Given the description of an element on the screen output the (x, y) to click on. 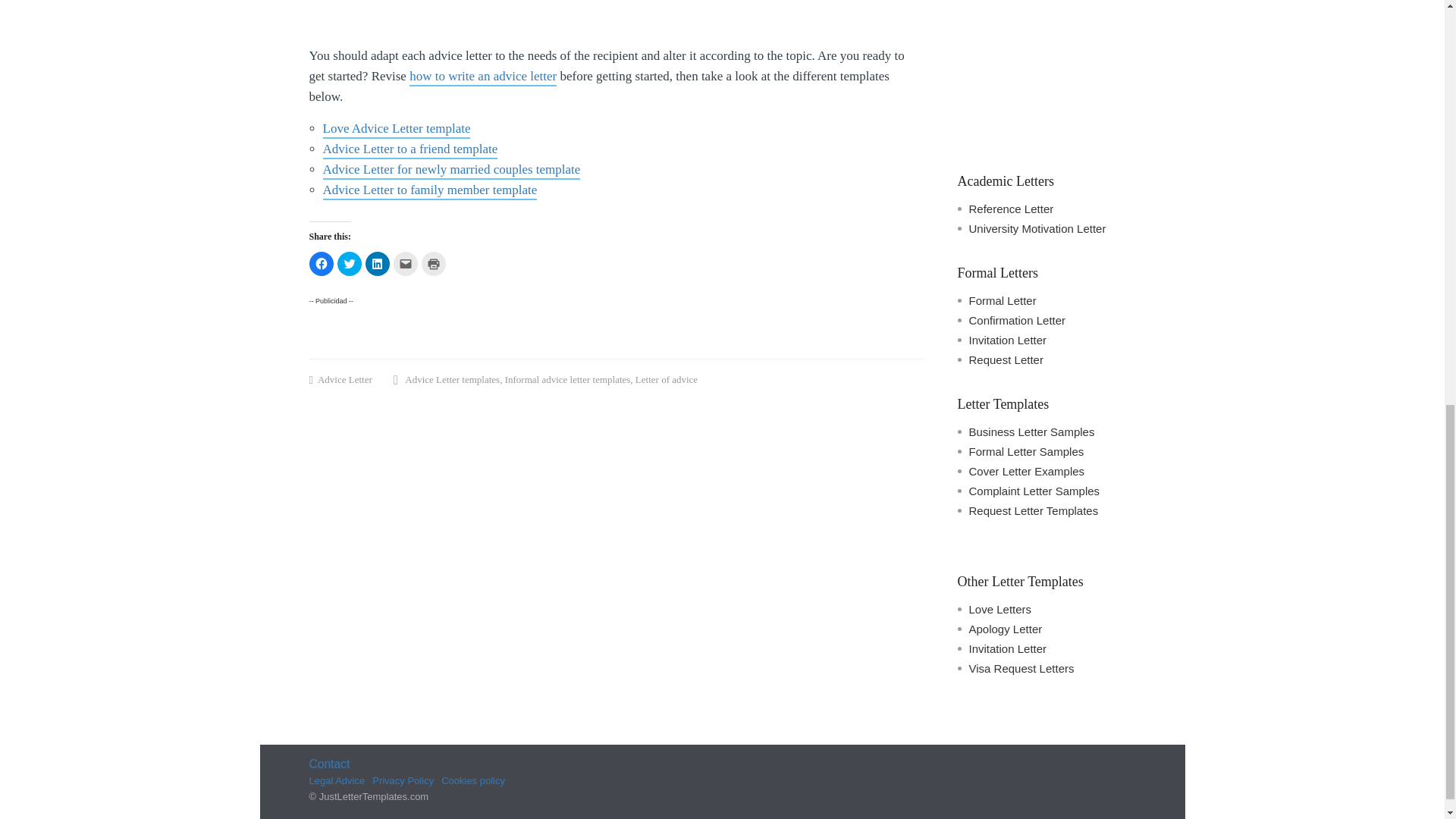
Advice Letter to family member template (430, 190)
Click to share on LinkedIn (377, 263)
Click to email a link to a friend (404, 263)
how to write an advice letter (482, 77)
Advice Letter (344, 380)
Love Advice Letter template (396, 129)
Advertisement (1045, 72)
Click to share on Twitter (348, 263)
Click to share on Facebook (320, 263)
Click to print (433, 263)
Advice Letter to a friend template (410, 149)
Advice Letter for newly married couples template (451, 170)
